Given the description of an element on the screen output the (x, y) to click on. 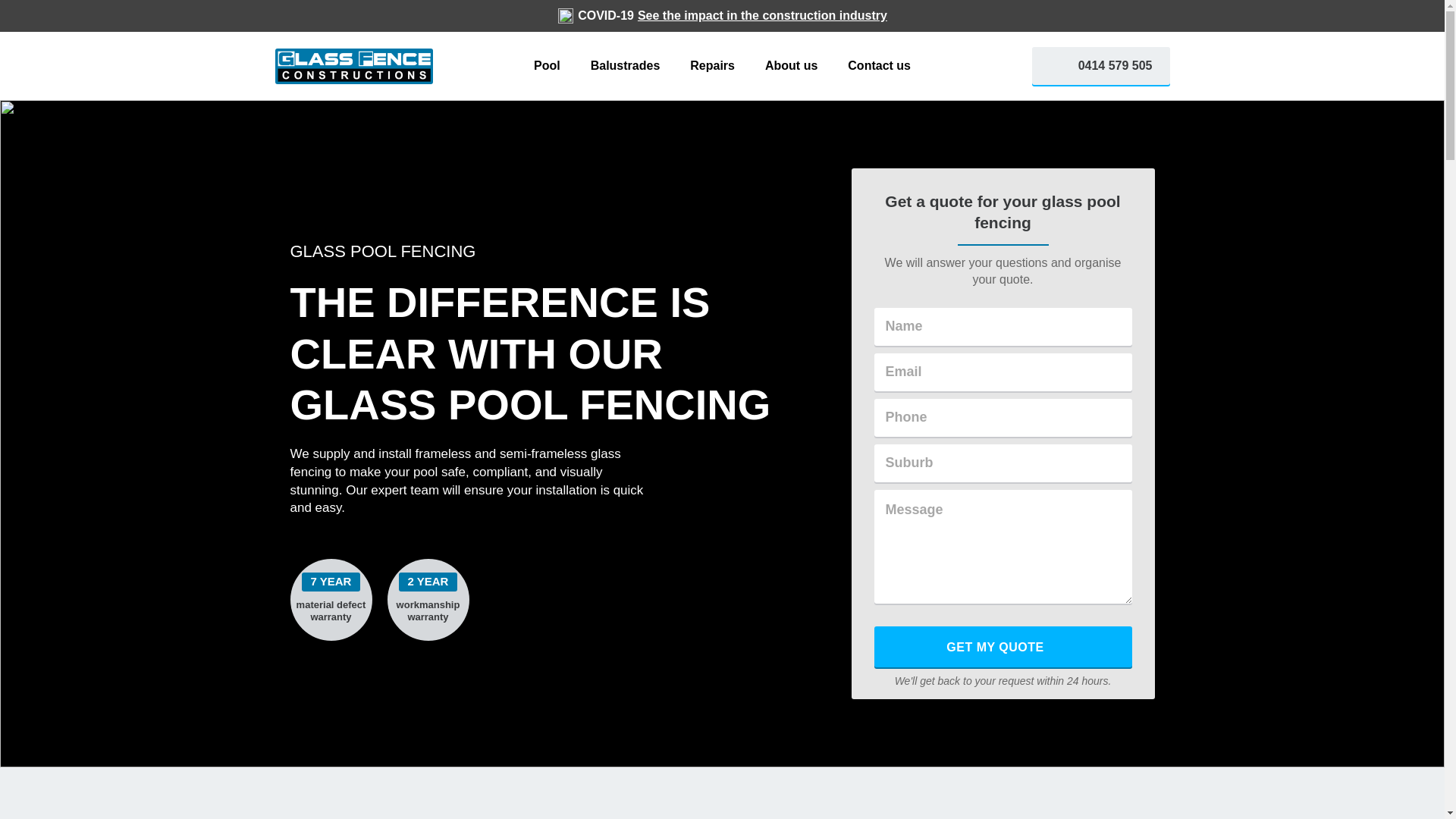
Balustrades Element type: text (625, 65)
Pool Element type: text (546, 65)
0414 579 505 Element type: text (1101, 65)
See the impact in the construction industry Element type: text (762, 15)
Repairs Element type: text (711, 65)
Contact us Element type: text (878, 65)
Get my quote Element type: text (1002, 646)
About us Element type: text (790, 65)
